Given the description of an element on the screen output the (x, y) to click on. 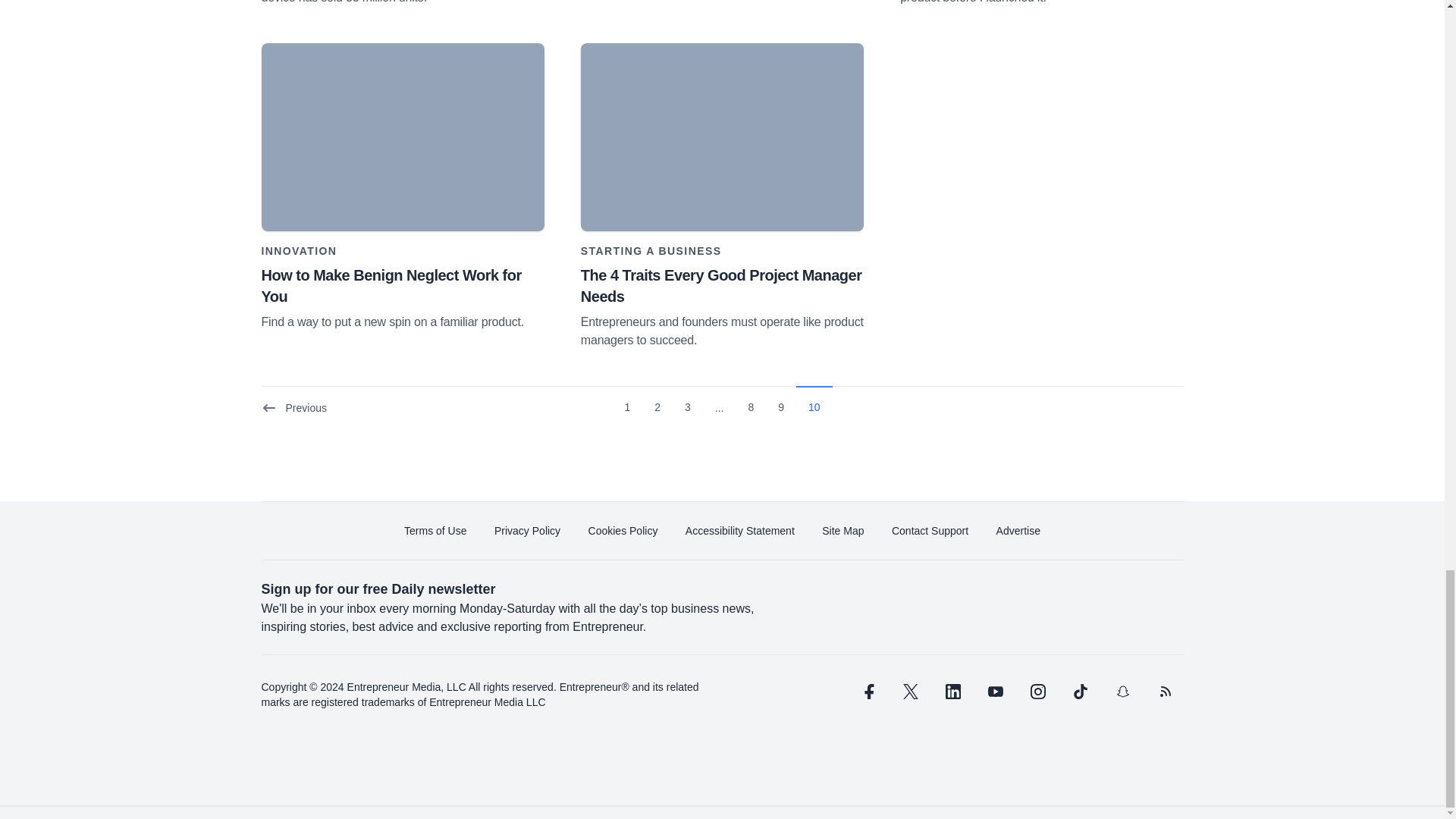
snapchat (1121, 691)
rss (1164, 691)
twitter (909, 691)
tiktok (1079, 691)
linkedin (952, 691)
youtube (994, 691)
instagram (1037, 691)
facebook (866, 691)
